Given the description of an element on the screen output the (x, y) to click on. 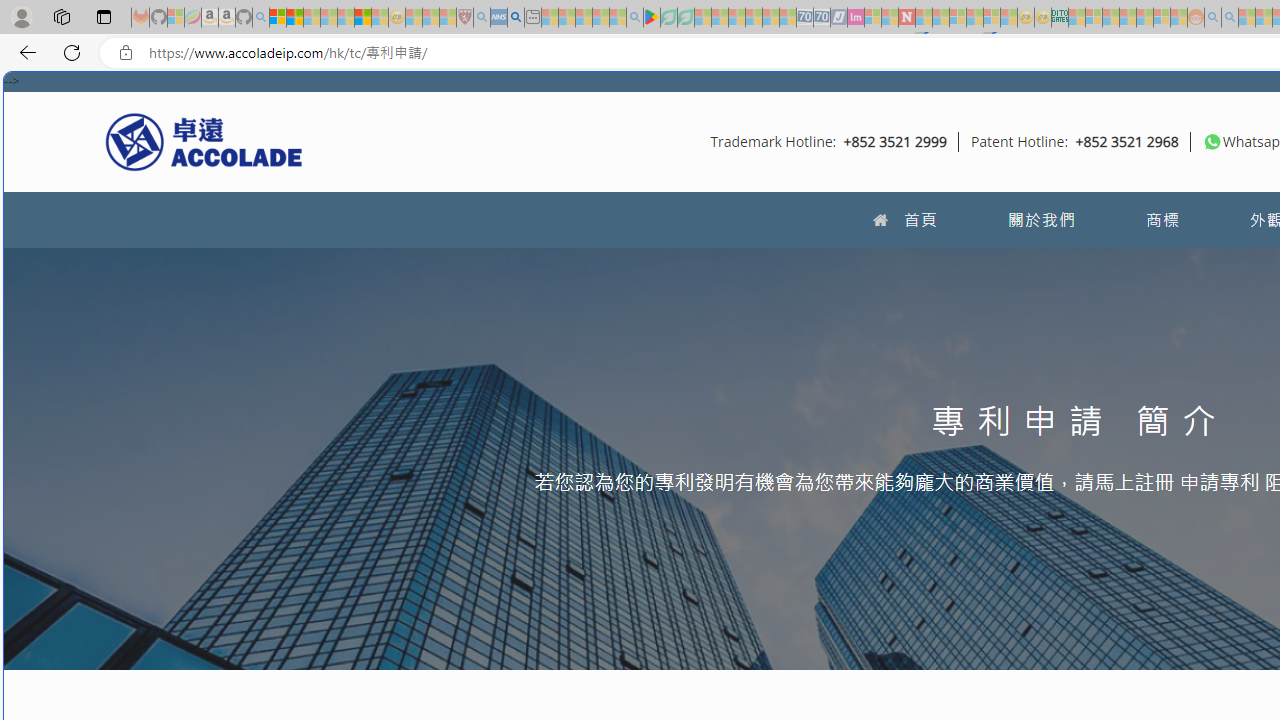
Jobs - lastminute.com Investor Portal - Sleeping (855, 17)
Bluey: Let's Play! - Apps on Google Play (651, 17)
utah sues federal government - Search (515, 17)
Cheap Hotels - Save70.com - Sleeping (821, 17)
Recipes - MSN - Sleeping (413, 17)
Accolade IP HK Logo (203, 141)
Local - MSN - Sleeping (447, 17)
Utah sues federal government - Search - Sleeping (1229, 17)
